Given the description of an element on the screen output the (x, y) to click on. 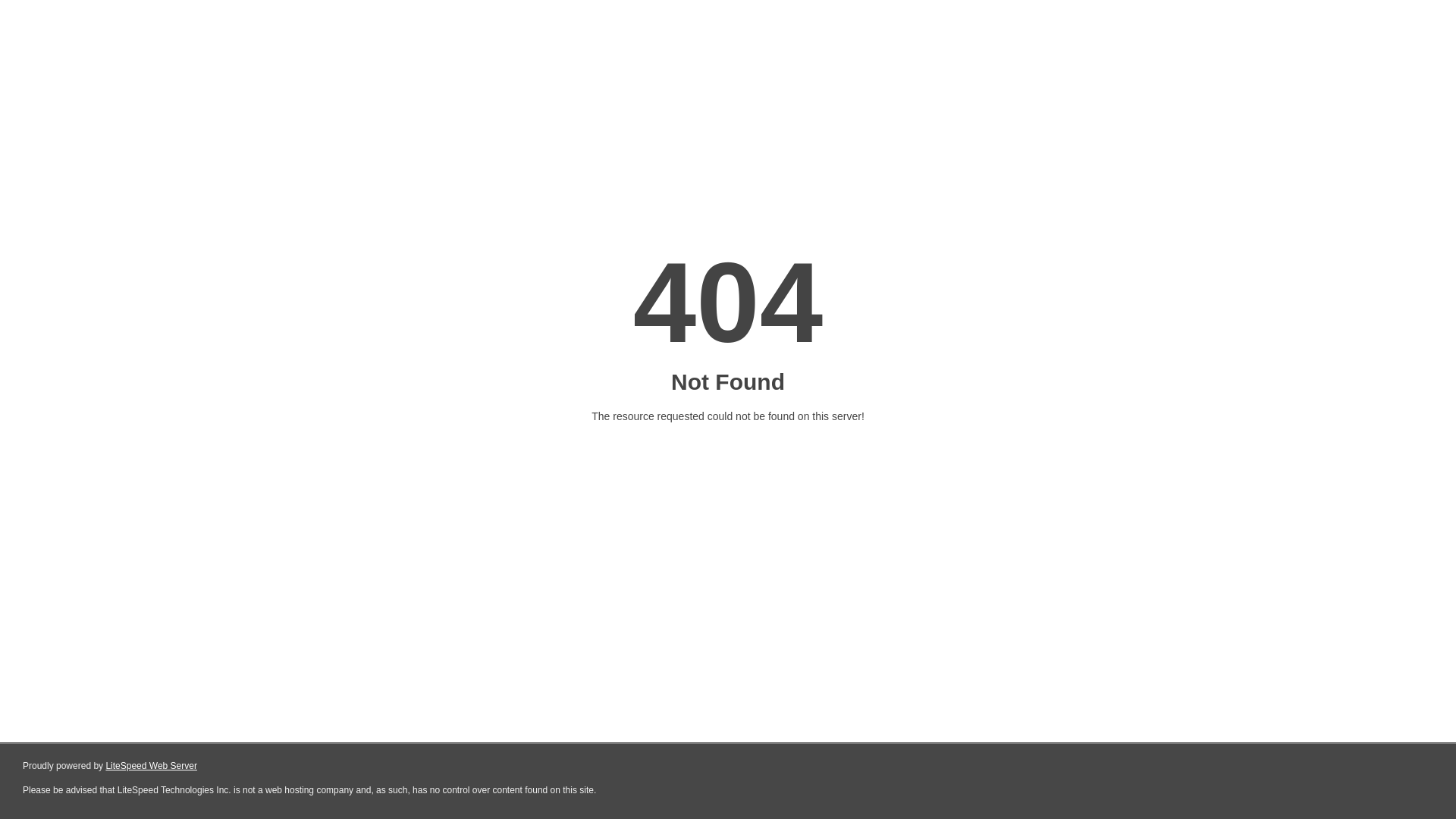
LiteSpeed Web Server Element type: text (151, 765)
